Given the description of an element on the screen output the (x, y) to click on. 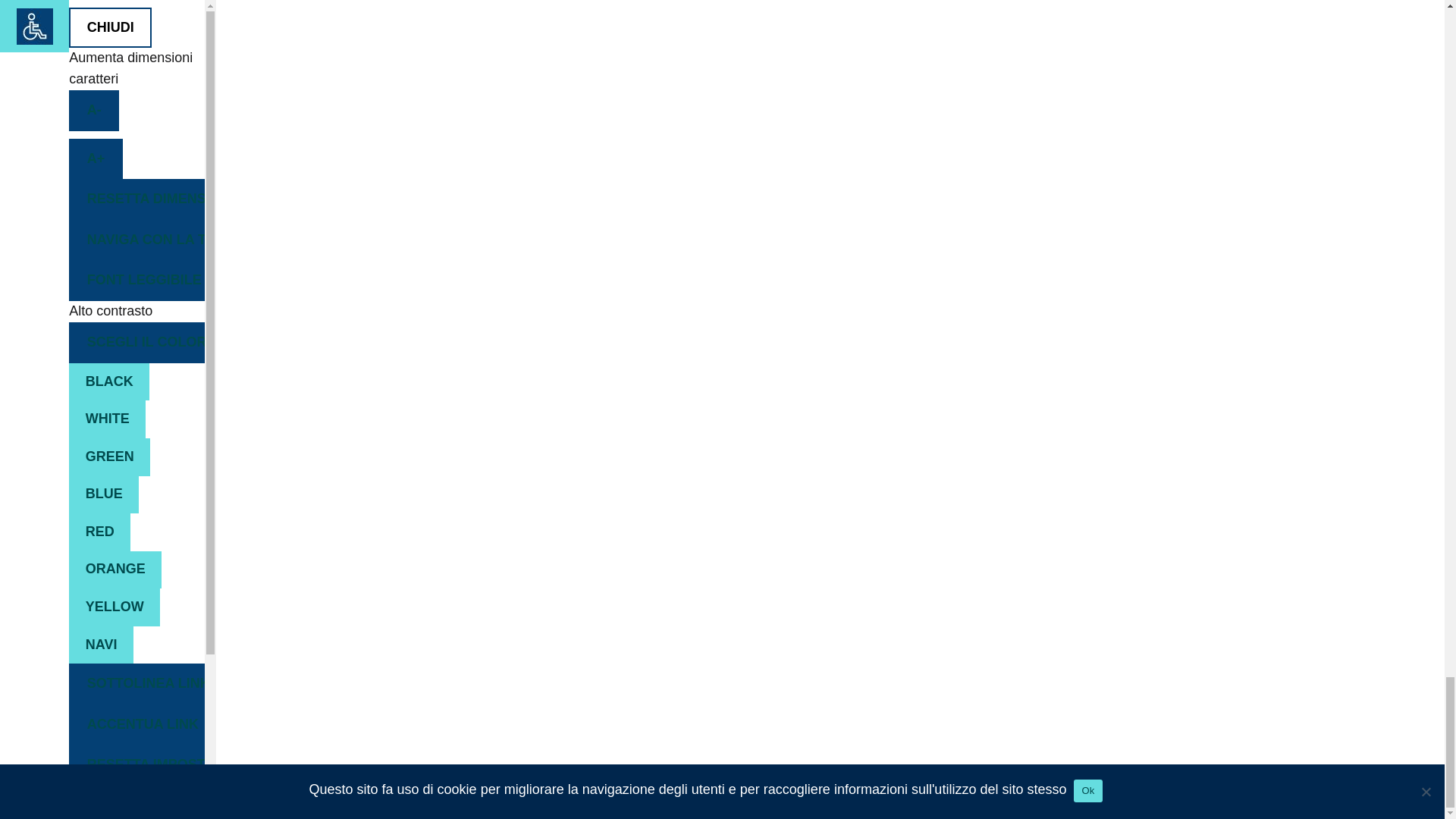
Font leggibile (136, 281)
red (99, 532)
Naviga con la tastiera (136, 240)
green (108, 456)
black (108, 382)
yellow (114, 607)
smaller font size (93, 110)
navi (100, 645)
Chiudi (109, 27)
A- (93, 110)
Contrast (136, 342)
NAVIGA CON LA TASTIERA (136, 240)
Reset font size (136, 199)
blue (103, 494)
CHIUDI (109, 27)
